Given the description of an element on the screen output the (x, y) to click on. 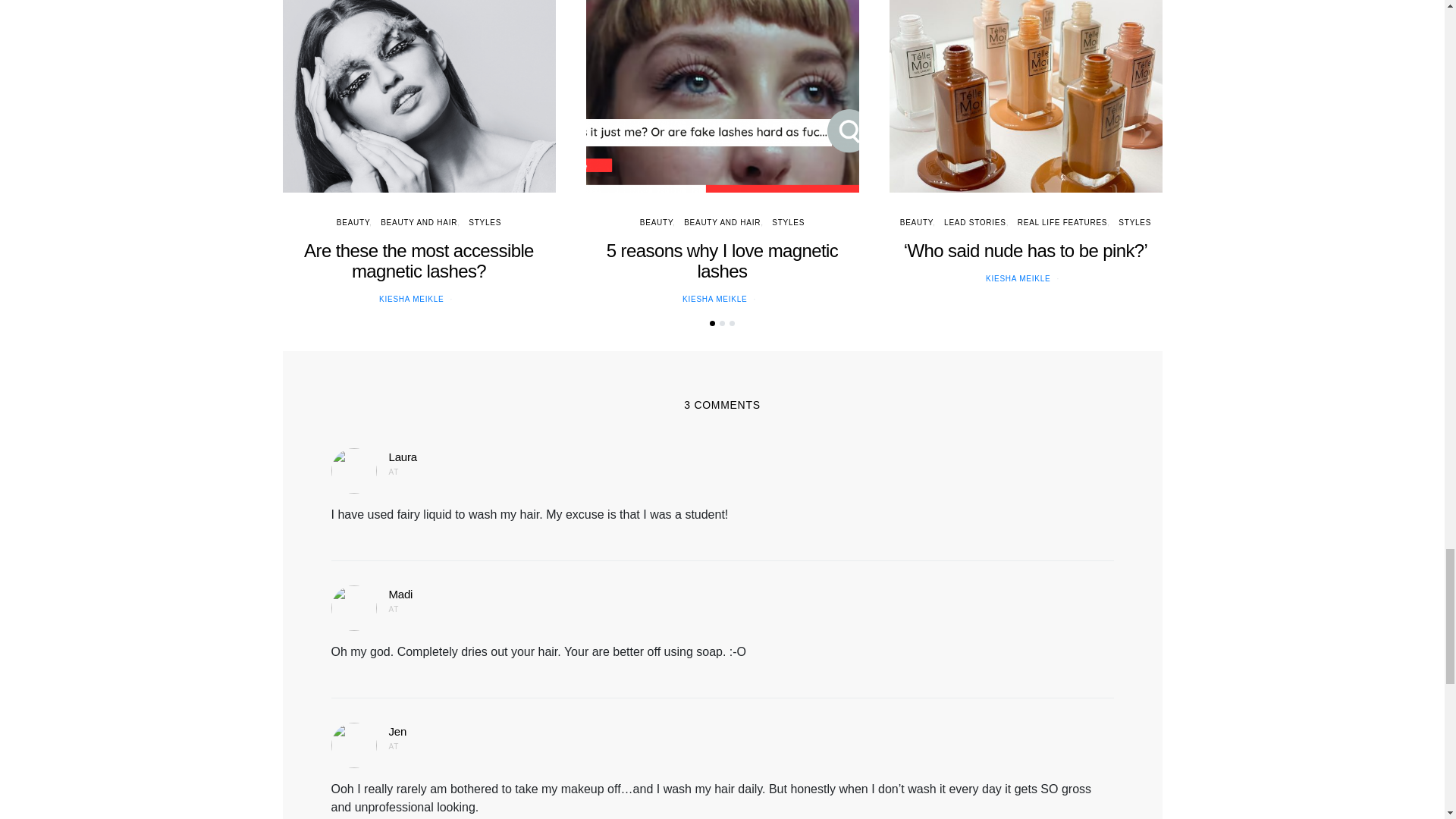
View all posts by Kiesha Meikle (714, 298)
View all posts by Kiesha Meikle (1017, 278)
View all posts by Kiesha Meikle (411, 298)
